Given the description of an element on the screen output the (x, y) to click on. 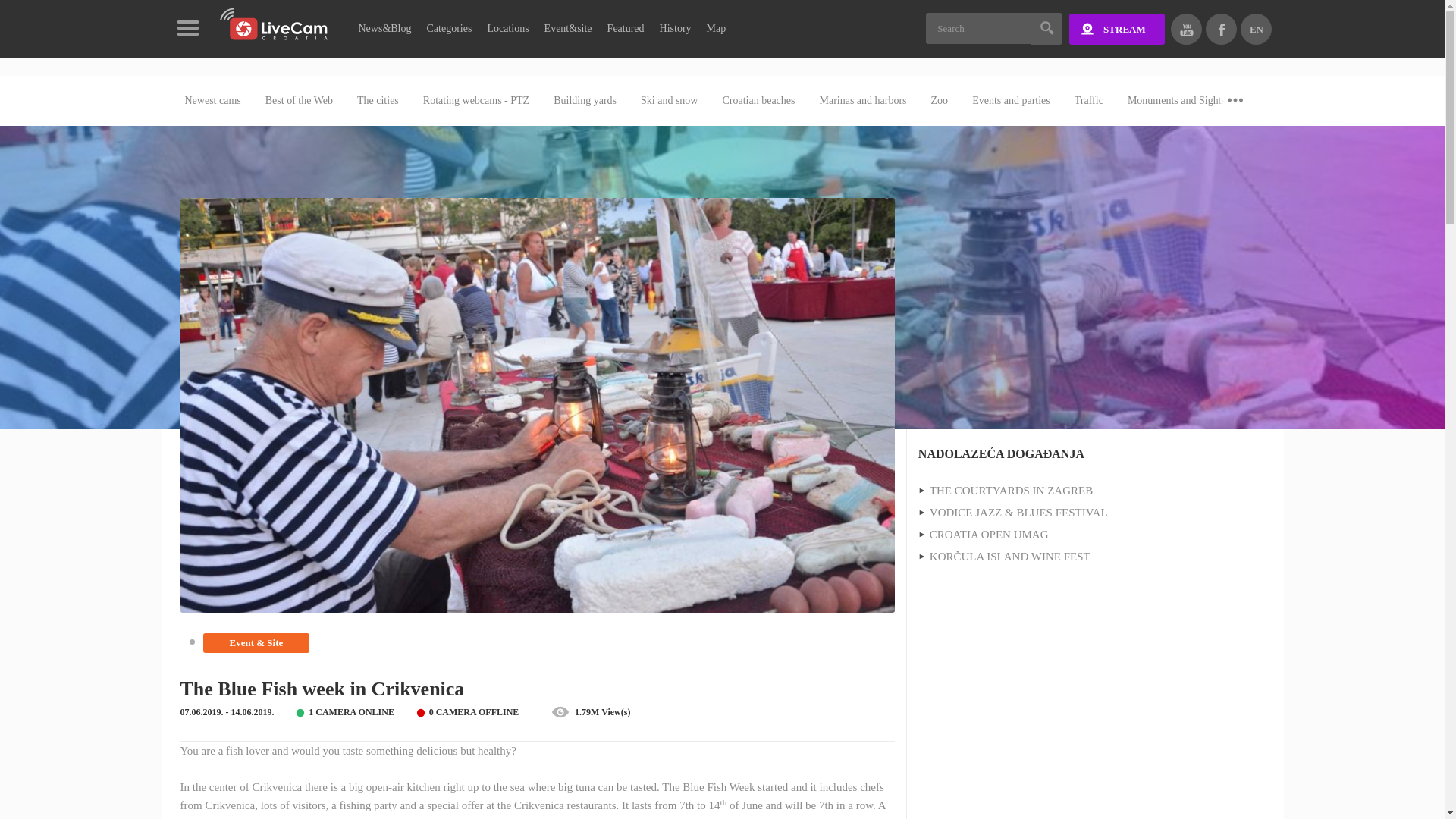
Advertisement (1091, 712)
